Given the description of an element on the screen output the (x, y) to click on. 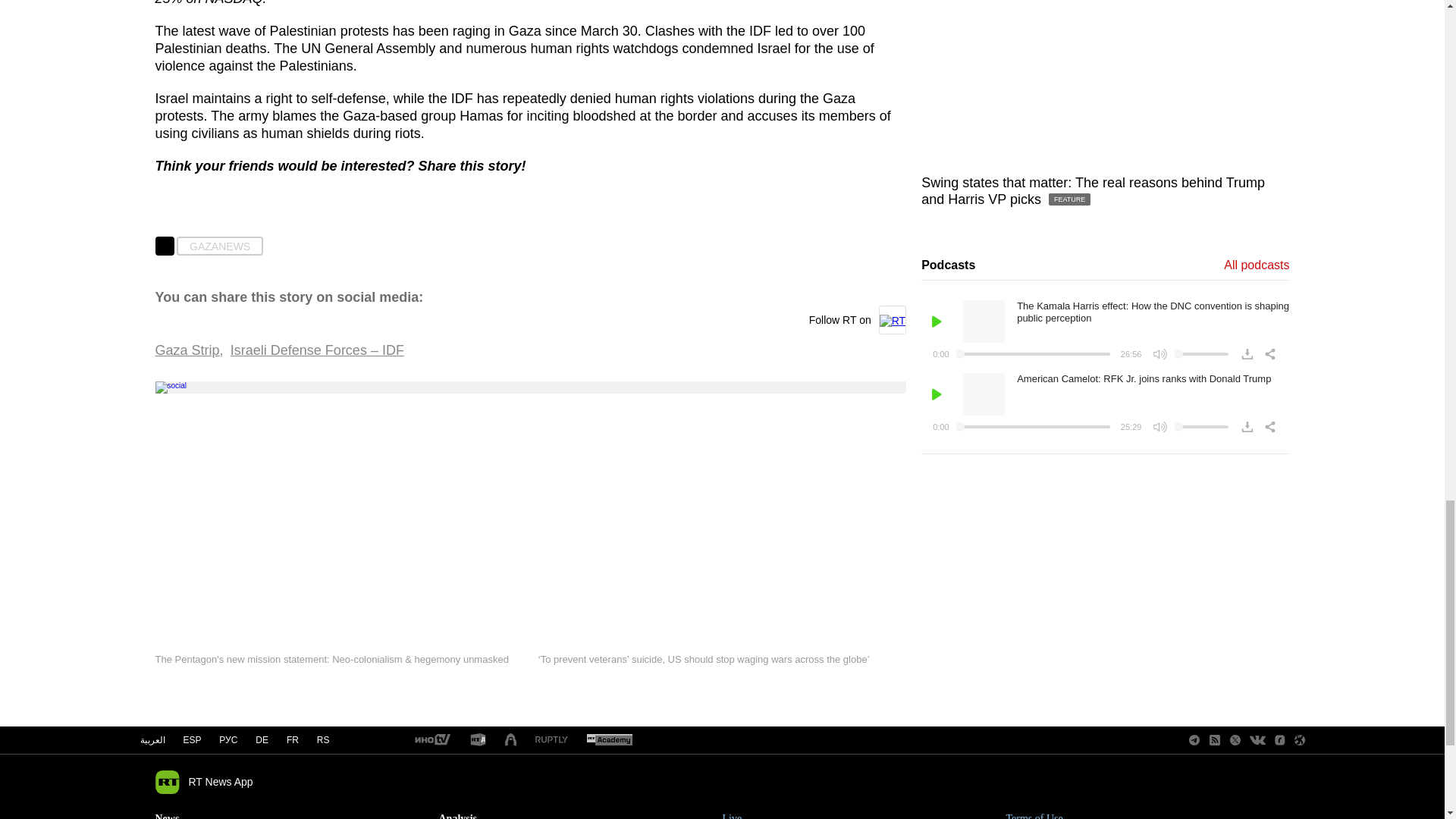
RT  (551, 740)
RT  (431, 739)
RT  (608, 739)
RT  (478, 740)
